Given the description of an element on the screen output the (x, y) to click on. 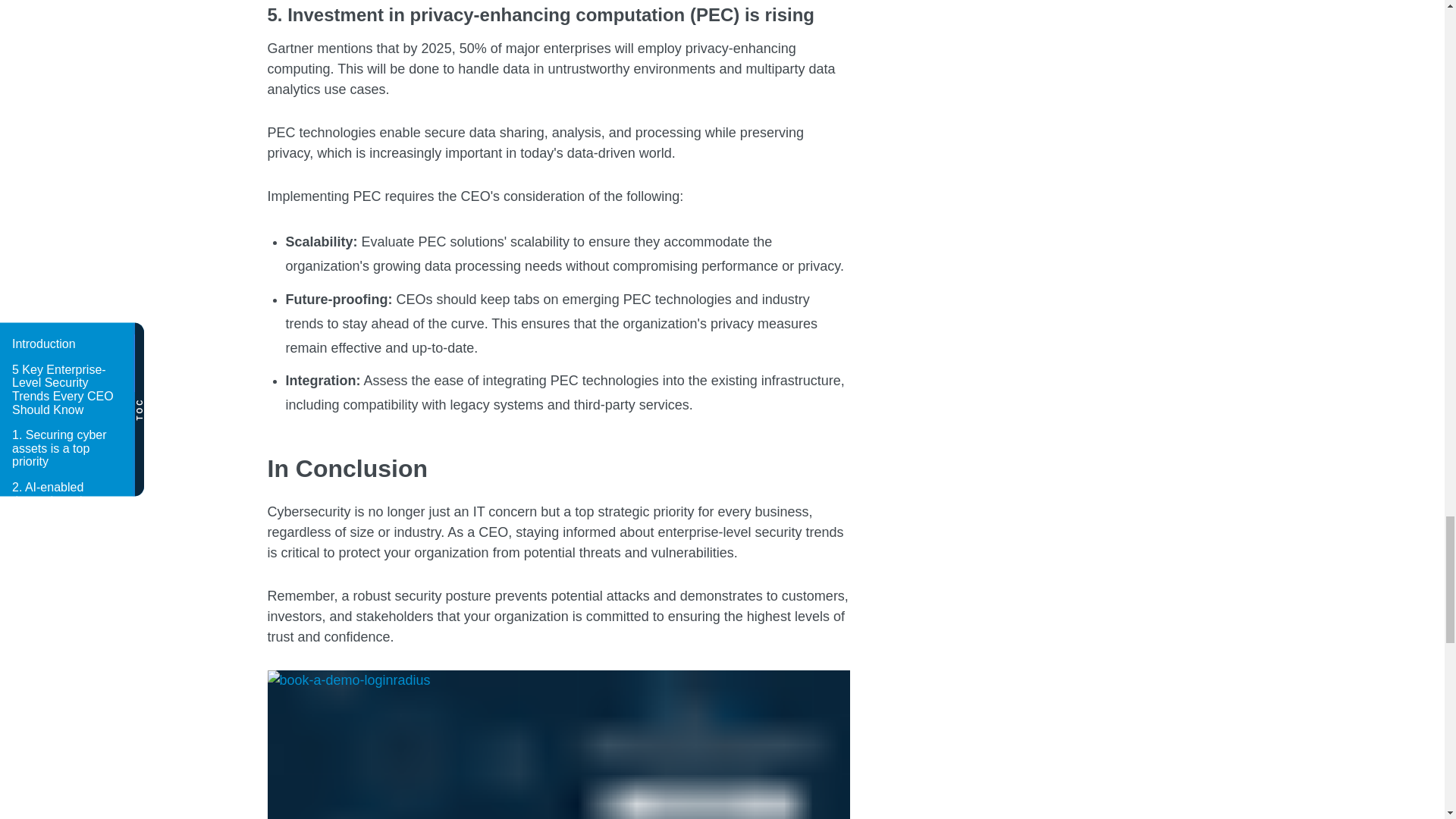
book-a-demo-loginradius (557, 744)
